Given the description of an element on the screen output the (x, y) to click on. 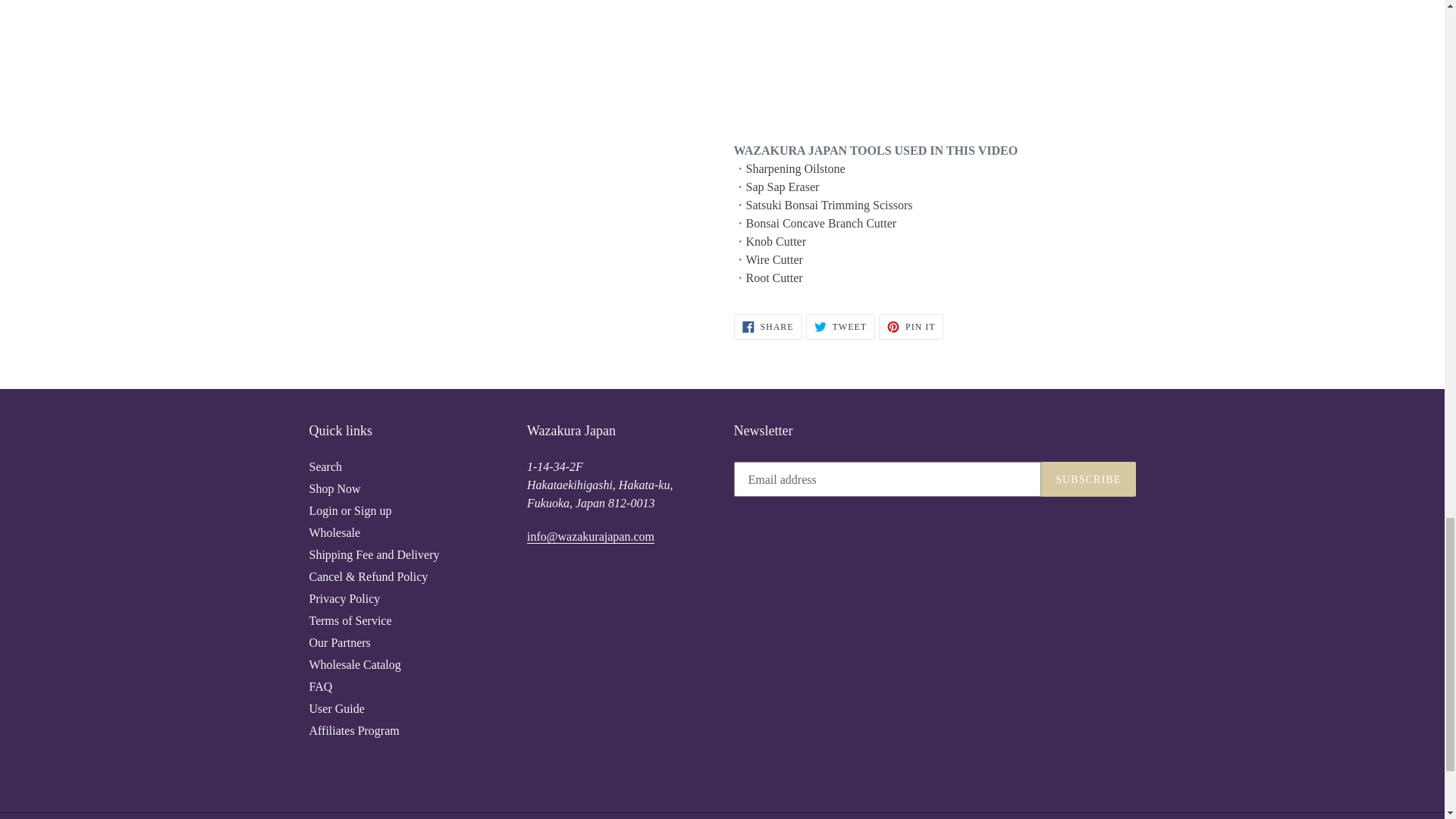
concave cutter (820, 223)
YouTube video player (945, 51)
sap eraser link (782, 187)
wire cutters (774, 259)
satsuki bonsai scissors (828, 205)
knob cutter (775, 241)
oilstone (795, 169)
